Given the description of an element on the screen output the (x, y) to click on. 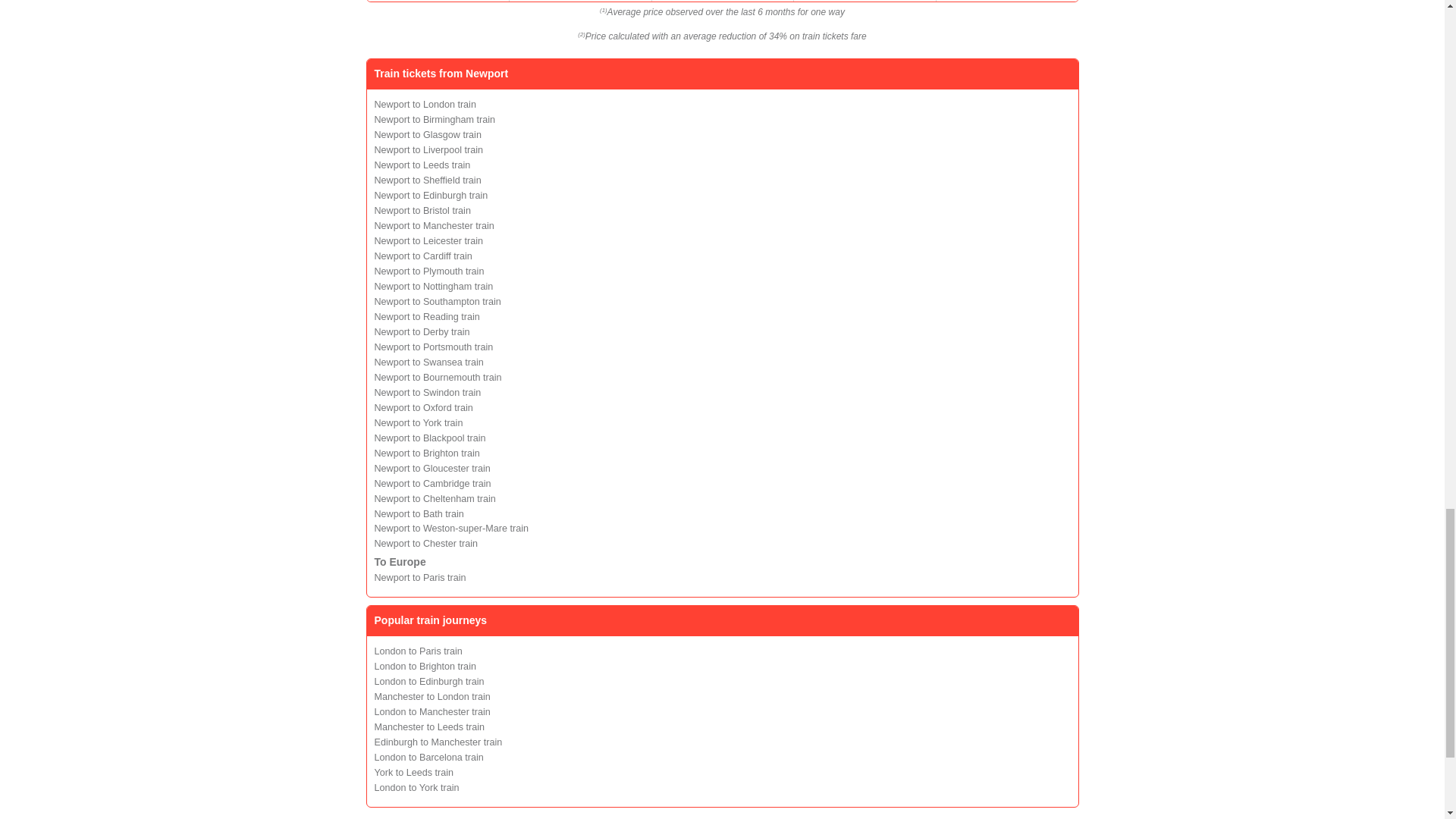
Newport to Southampton train (437, 301)
Newport to London train (425, 104)
Newport to Leeds train (422, 164)
Newport to Glasgow train (427, 134)
Newport to Cardiff train (422, 255)
Newport to Leicester train (428, 240)
Newport to Liverpool train (428, 149)
Newport to Reading train (427, 317)
Newport to Edinburgh train (430, 195)
Newport to Manchester train (434, 225)
Newport to Portsmouth train (433, 347)
Newport to Sheffield train (427, 180)
Newport to Birmingham train (435, 119)
Newport to Derby train (422, 331)
Newport to Nottingham train (433, 286)
